Given the description of an element on the screen output the (x, y) to click on. 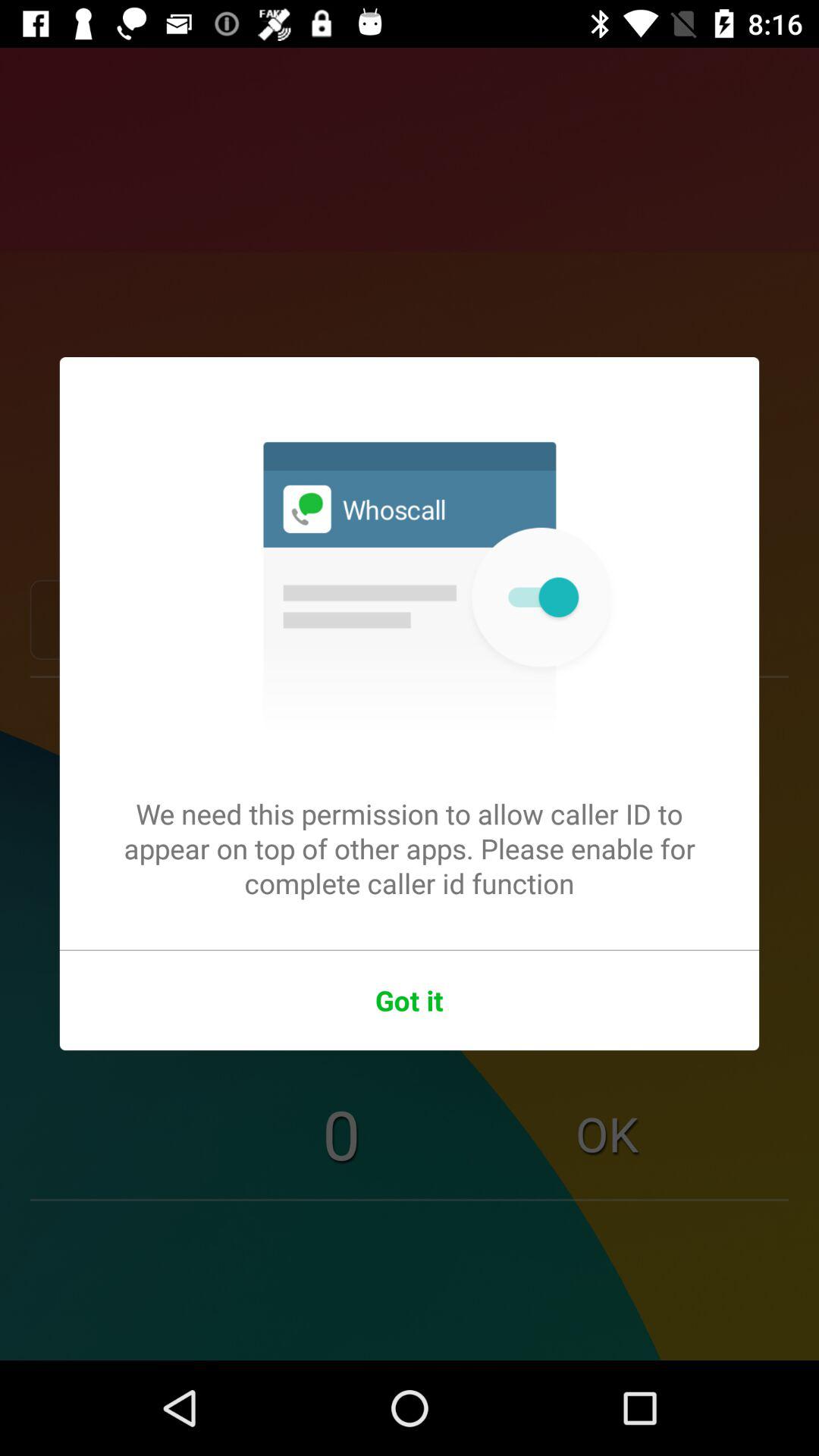
jump until the got it item (409, 1000)
